Given the description of an element on the screen output the (x, y) to click on. 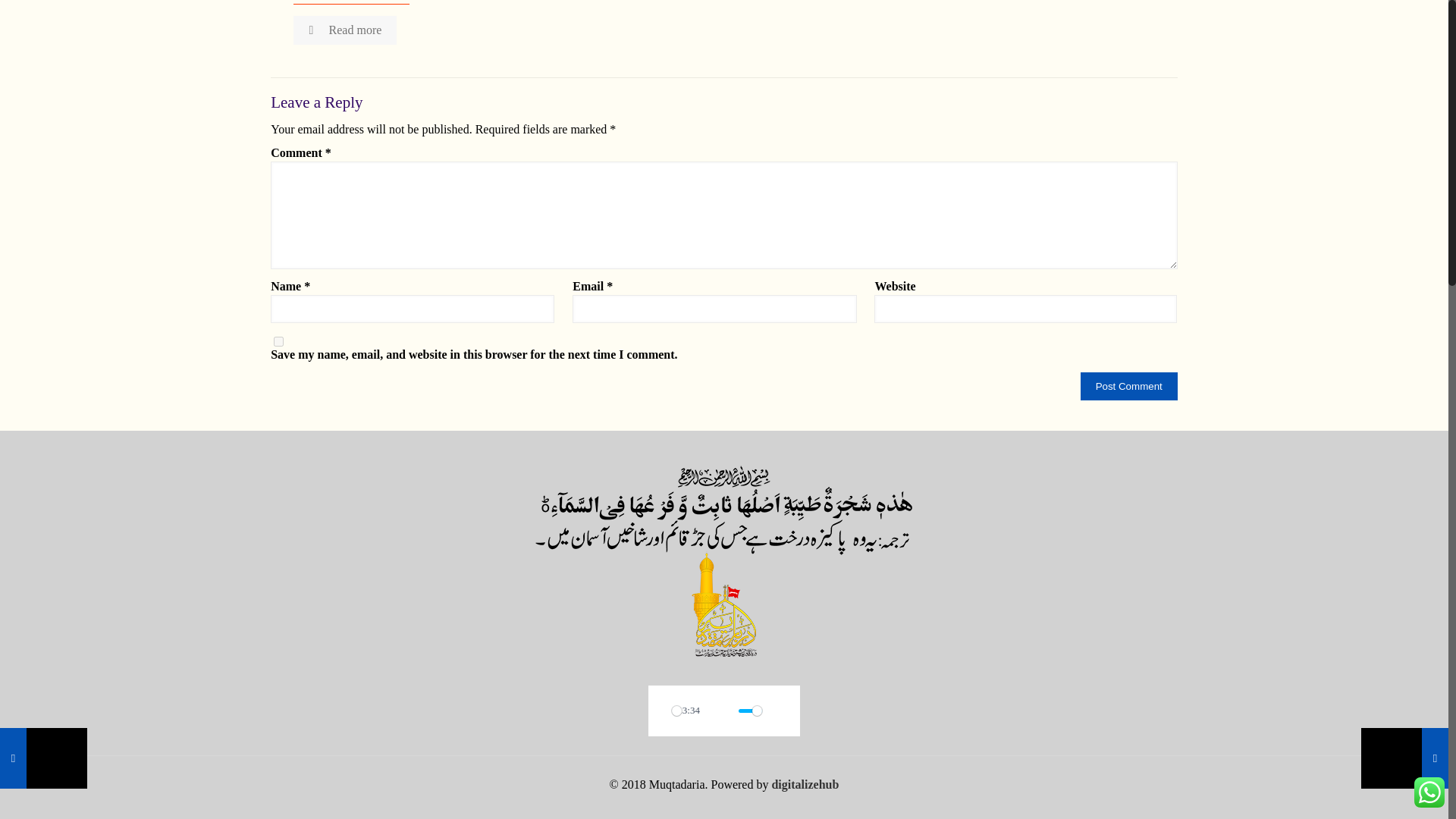
Post Comment (1128, 386)
